Given the description of an element on the screen output the (x, y) to click on. 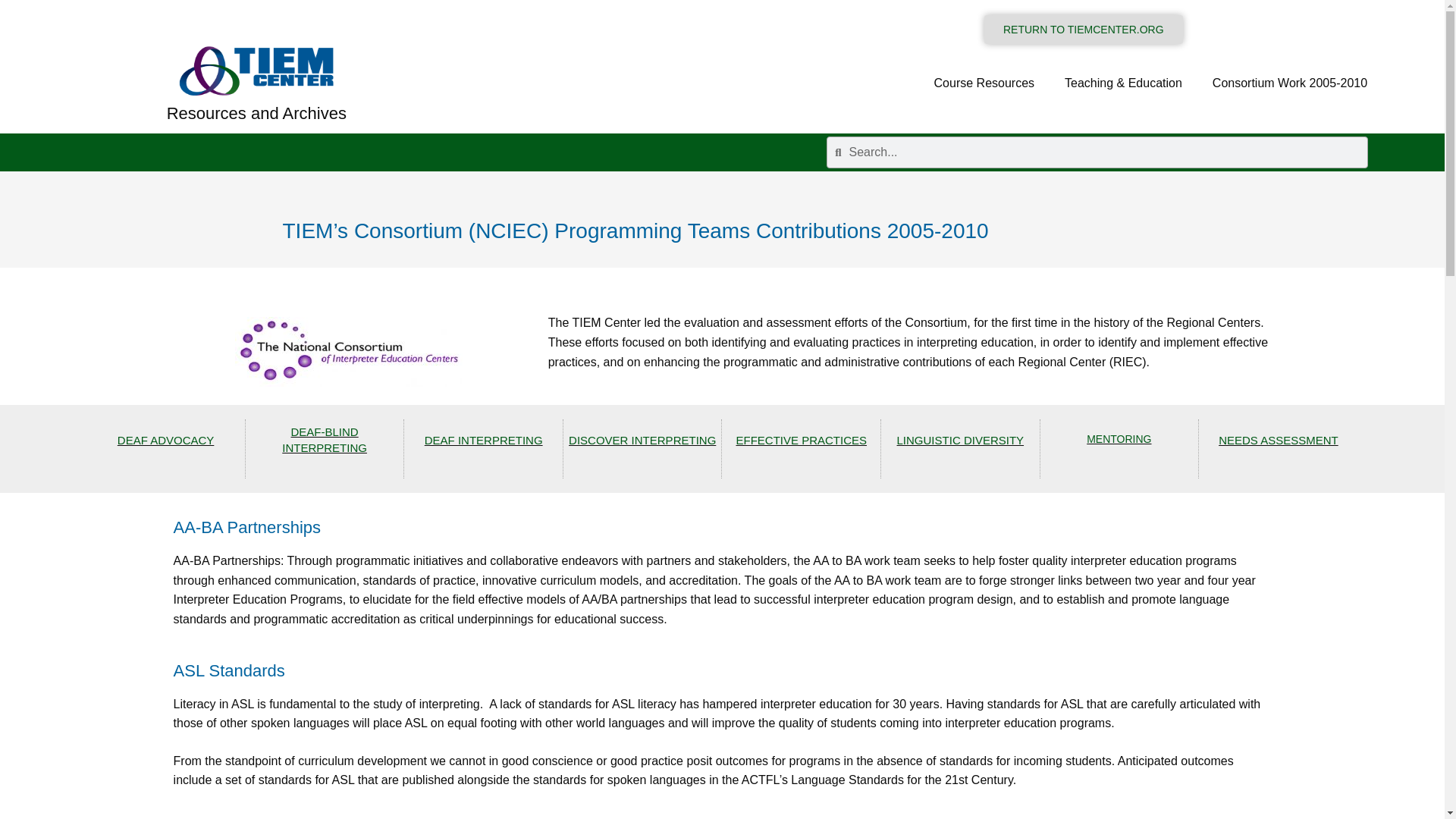
Consortium Work 2005-2010 (1288, 83)
RETURN TO TIEMCENTER.ORG (1083, 29)
Course Resources (983, 83)
